Given the description of an element on the screen output the (x, y) to click on. 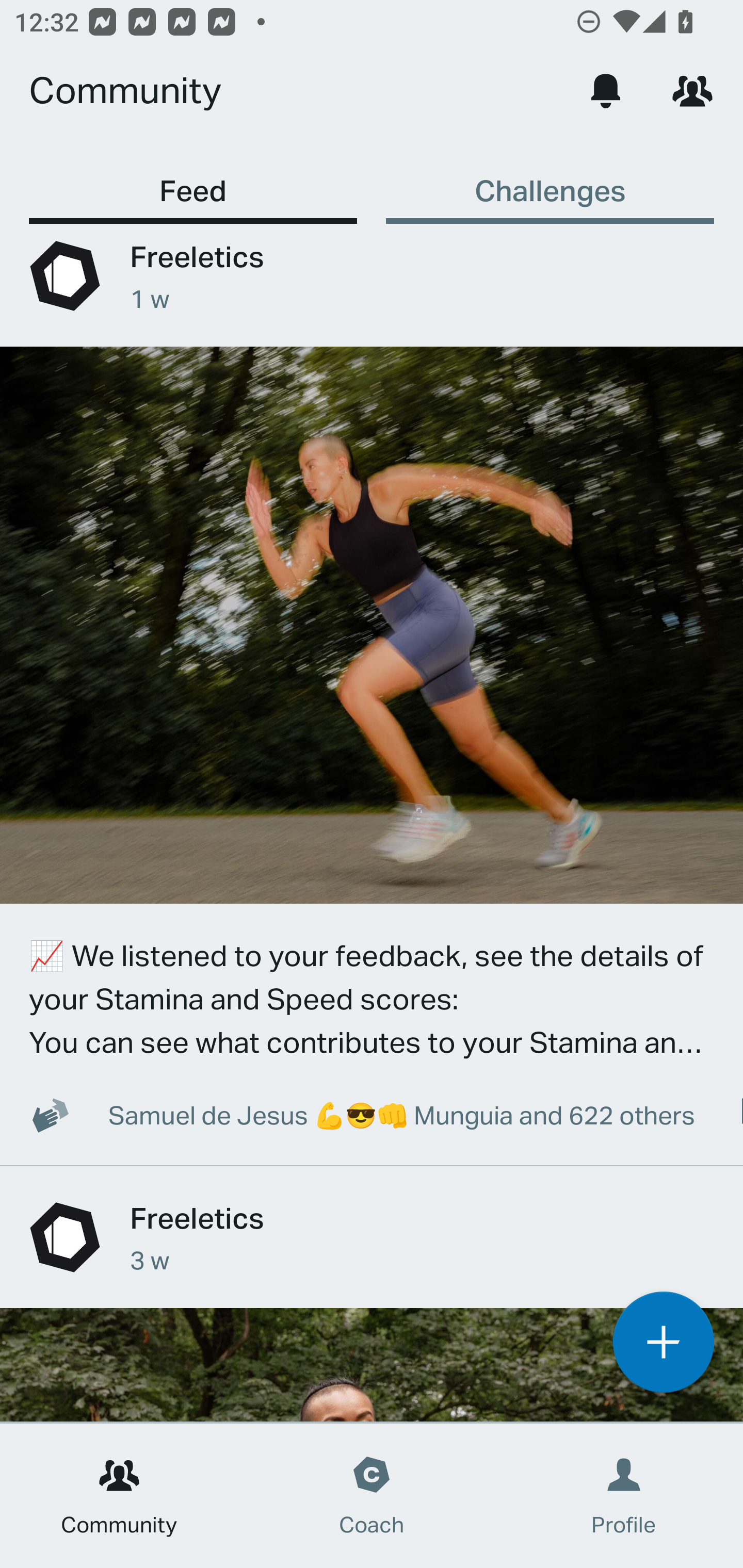
Notifications (605, 90)
Network (692, 90)
Feed (192, 180)
Challenges (549, 180)
Samuel de Jesus 💪😎👊 Munguia and 622 others (351, 1114)
Coach (371, 1495)
Profile (624, 1495)
